Given the description of an element on the screen output the (x, y) to click on. 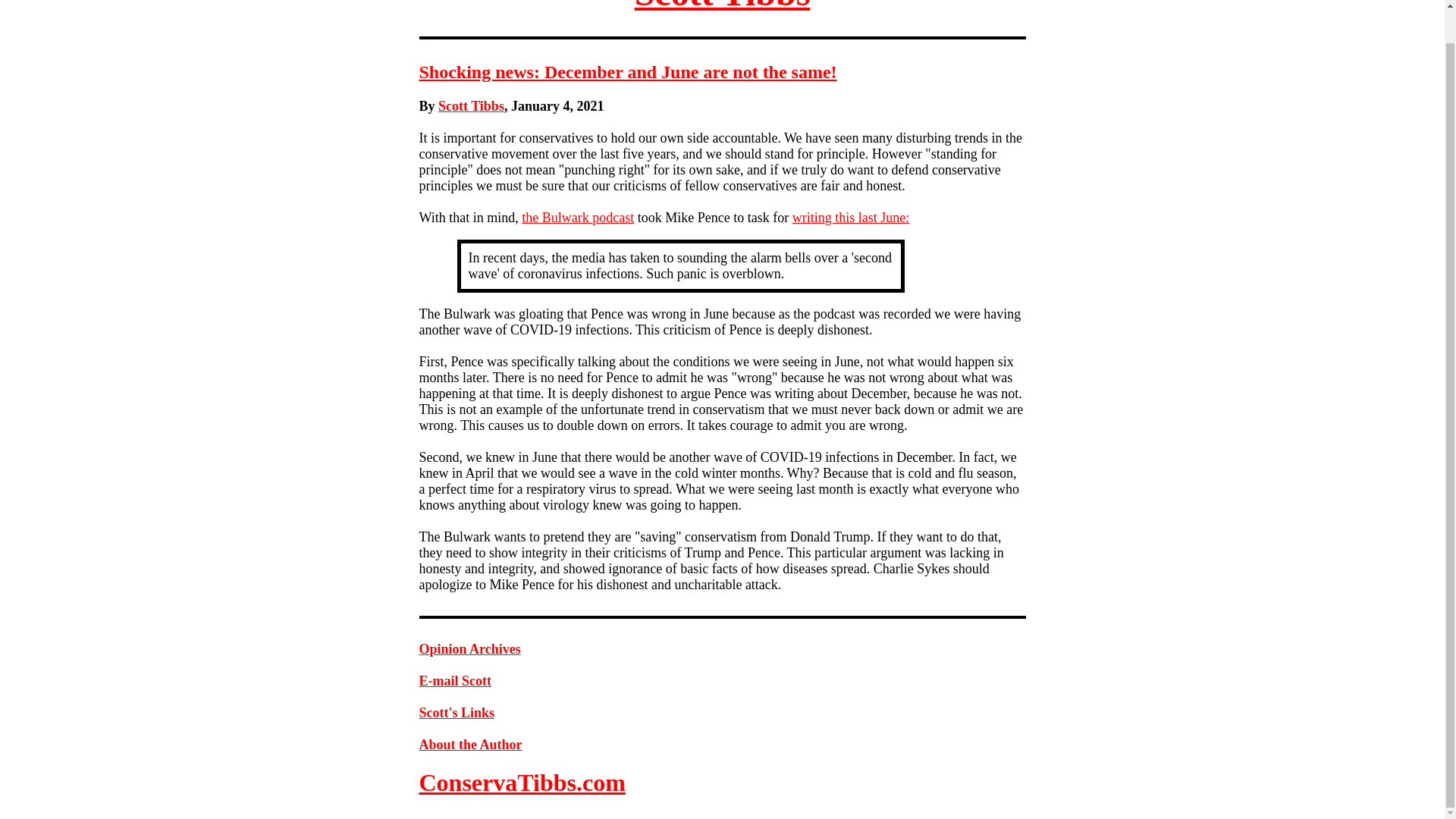
writing this last June: (851, 217)
Opinion Archives (469, 648)
Scott Tibbs (722, 6)
About the Author (470, 744)
Shocking news: December and June are not the same! (627, 71)
the Bulwark podcast (577, 217)
Scott Tibbs (470, 105)
ConservaTibbs.com (521, 782)
Scott's Links (457, 712)
E-mail Scott (454, 680)
